Given the description of an element on the screen output the (x, y) to click on. 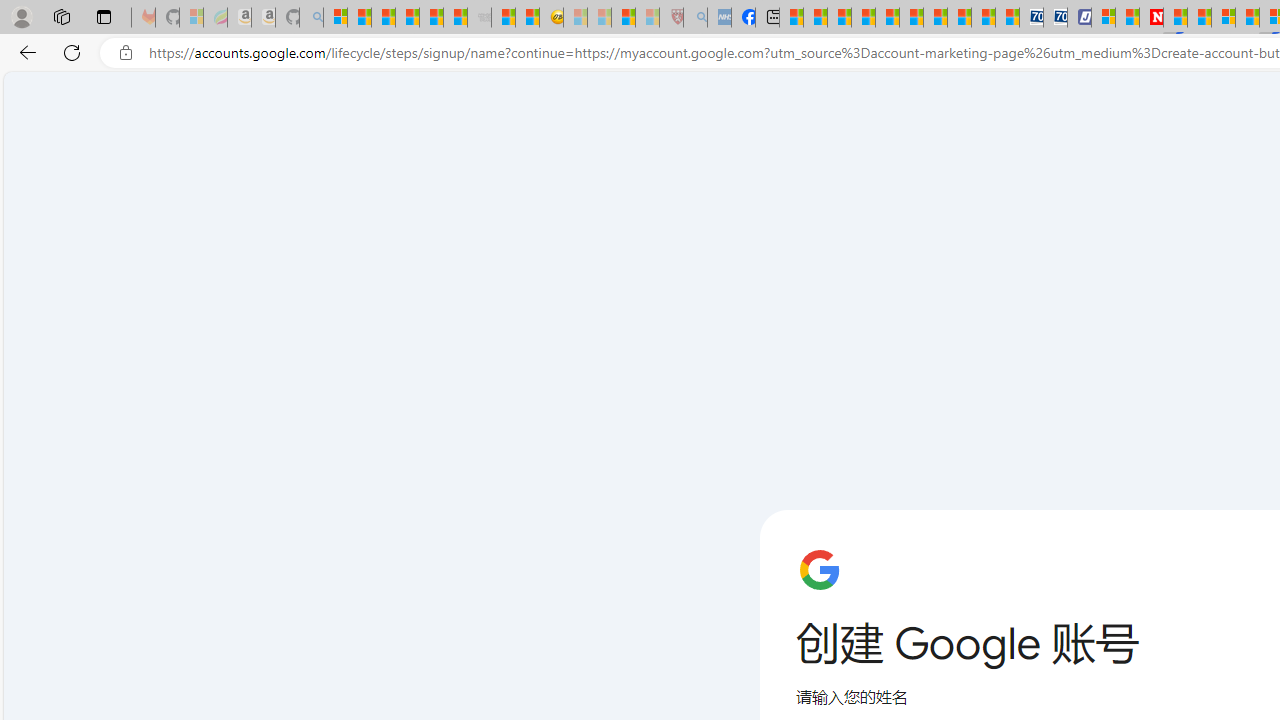
Latest Politics News & Archive | Newsweek.com (1151, 17)
MSNBC - MSN (790, 17)
Stocks - MSN (455, 17)
Microsoft-Report a Concern to Bing - Sleeping (191, 17)
World - MSN (839, 17)
